Given the description of an element on the screen output the (x, y) to click on. 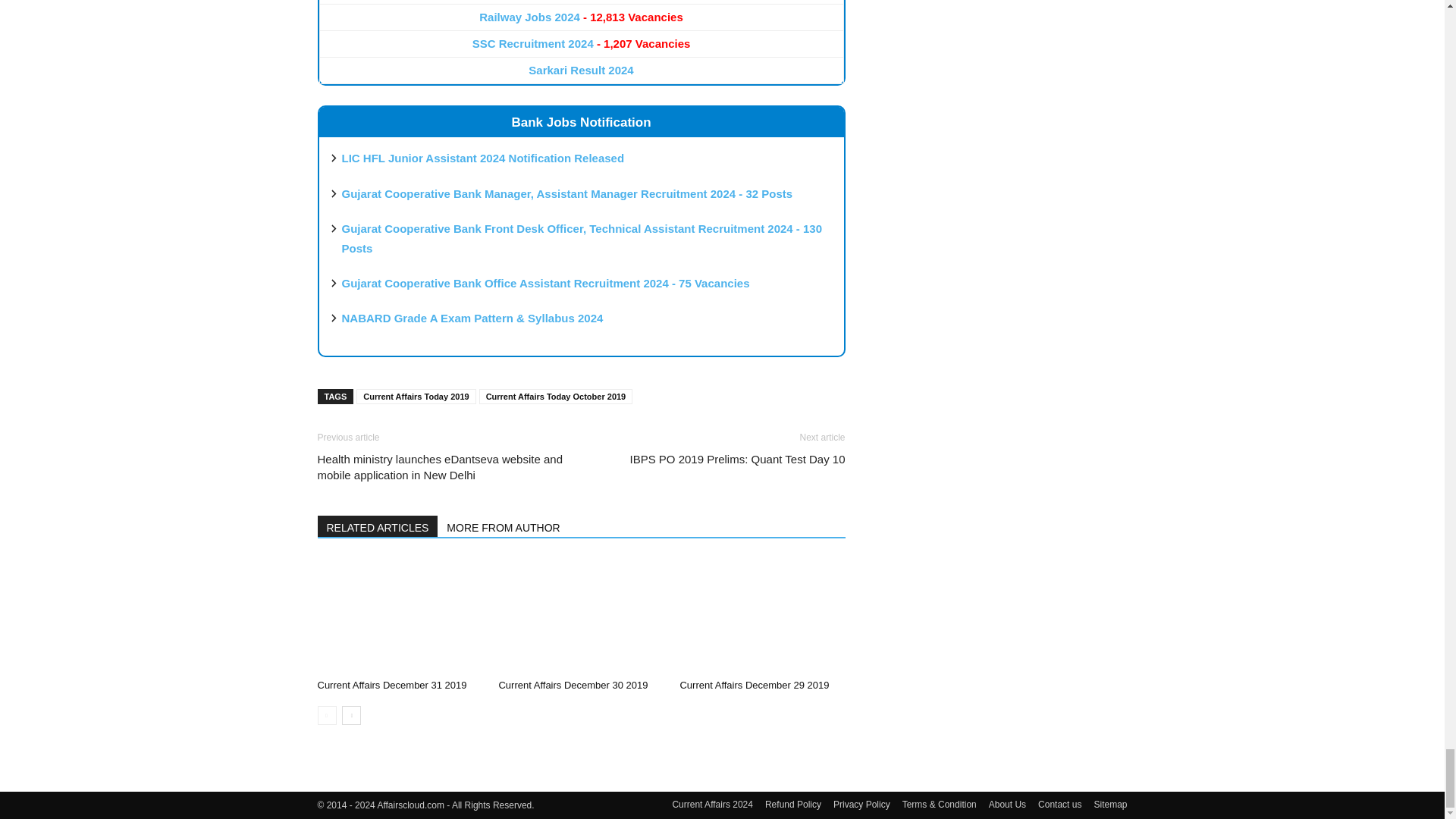
Current Affairs December 31 2019 (399, 615)
